Given the description of an element on the screen output the (x, y) to click on. 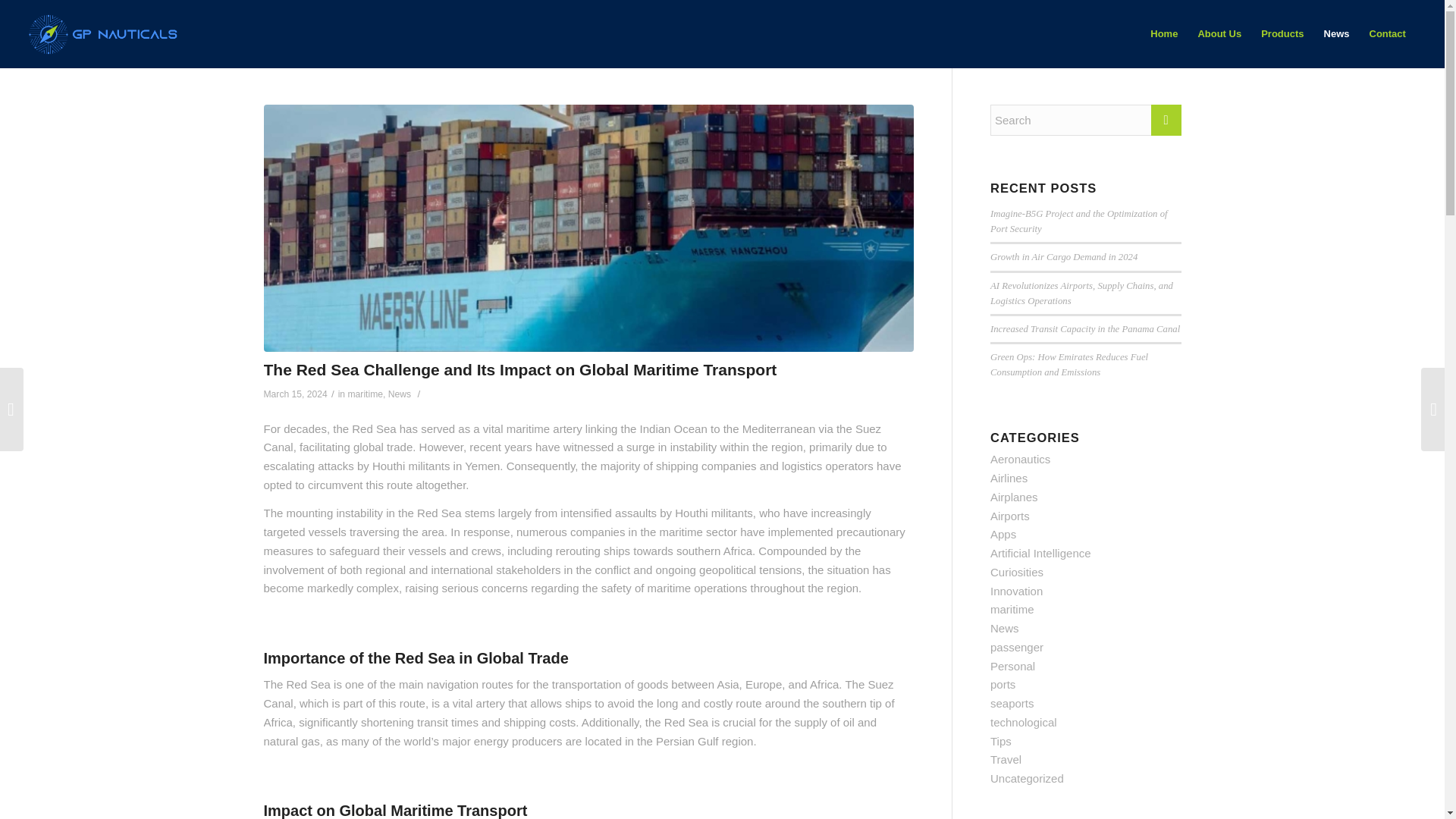
About Us (1219, 33)
Imagine-B5G Project and the Optimization of Port Security (1078, 221)
Products (1281, 33)
News (399, 394)
maritime (364, 394)
